Given the description of an element on the screen output the (x, y) to click on. 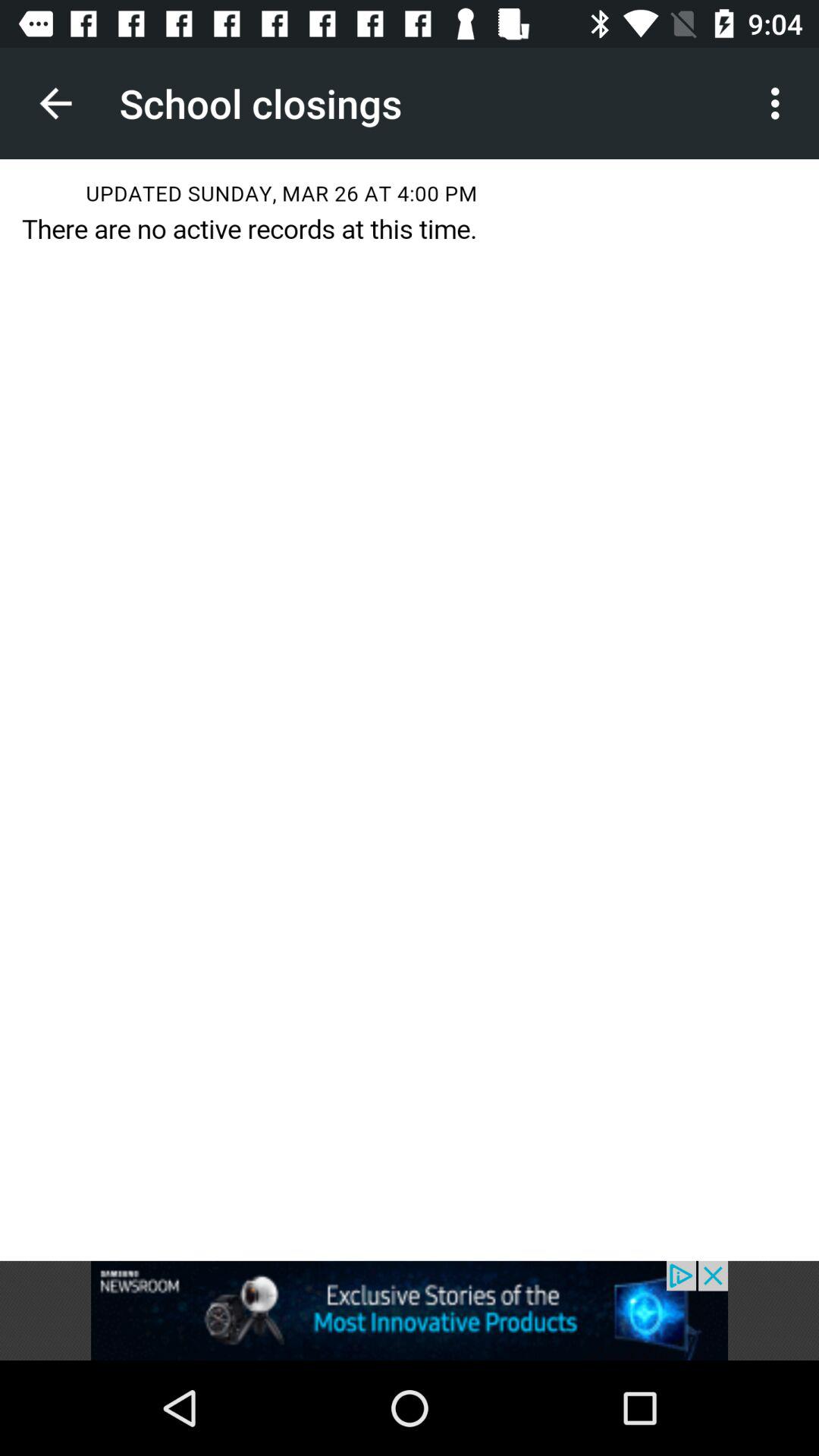
advertisement page (409, 1310)
